Given the description of an element on the screen output the (x, y) to click on. 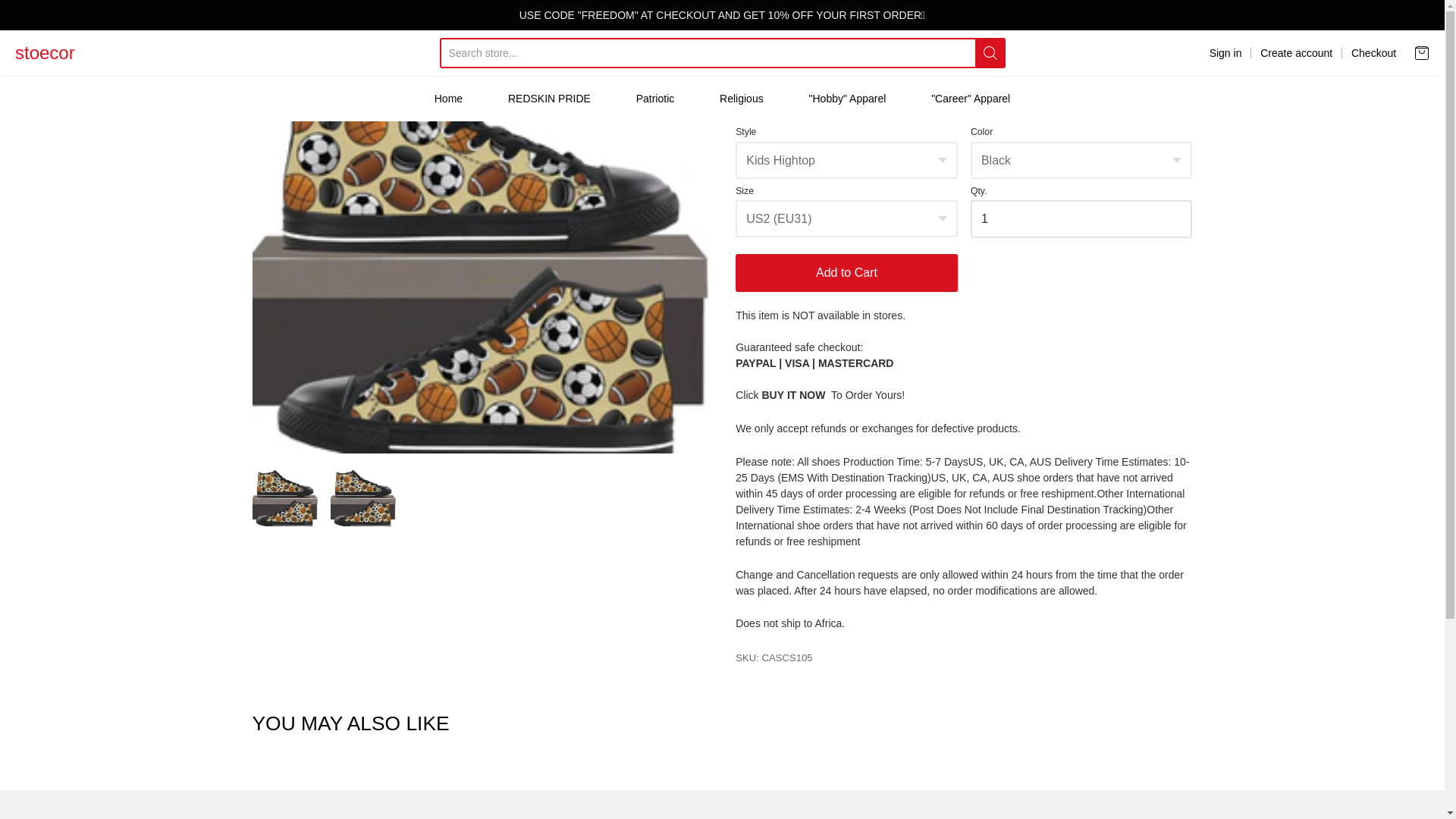
stoecor (44, 52)
Religious (740, 97)
"Hobby" Apparel (847, 97)
Sports Ball Patterns - Kids Hightop (284, 498)
Sports Ball Patterns - Kids Hightop (363, 498)
Sports Ball Patterns - Kids Hightop (352, 44)
Home (263, 44)
REDSKIN PRIDE (549, 97)
Home (448, 97)
Checkout (1373, 52)
